Given the description of an element on the screen output the (x, y) to click on. 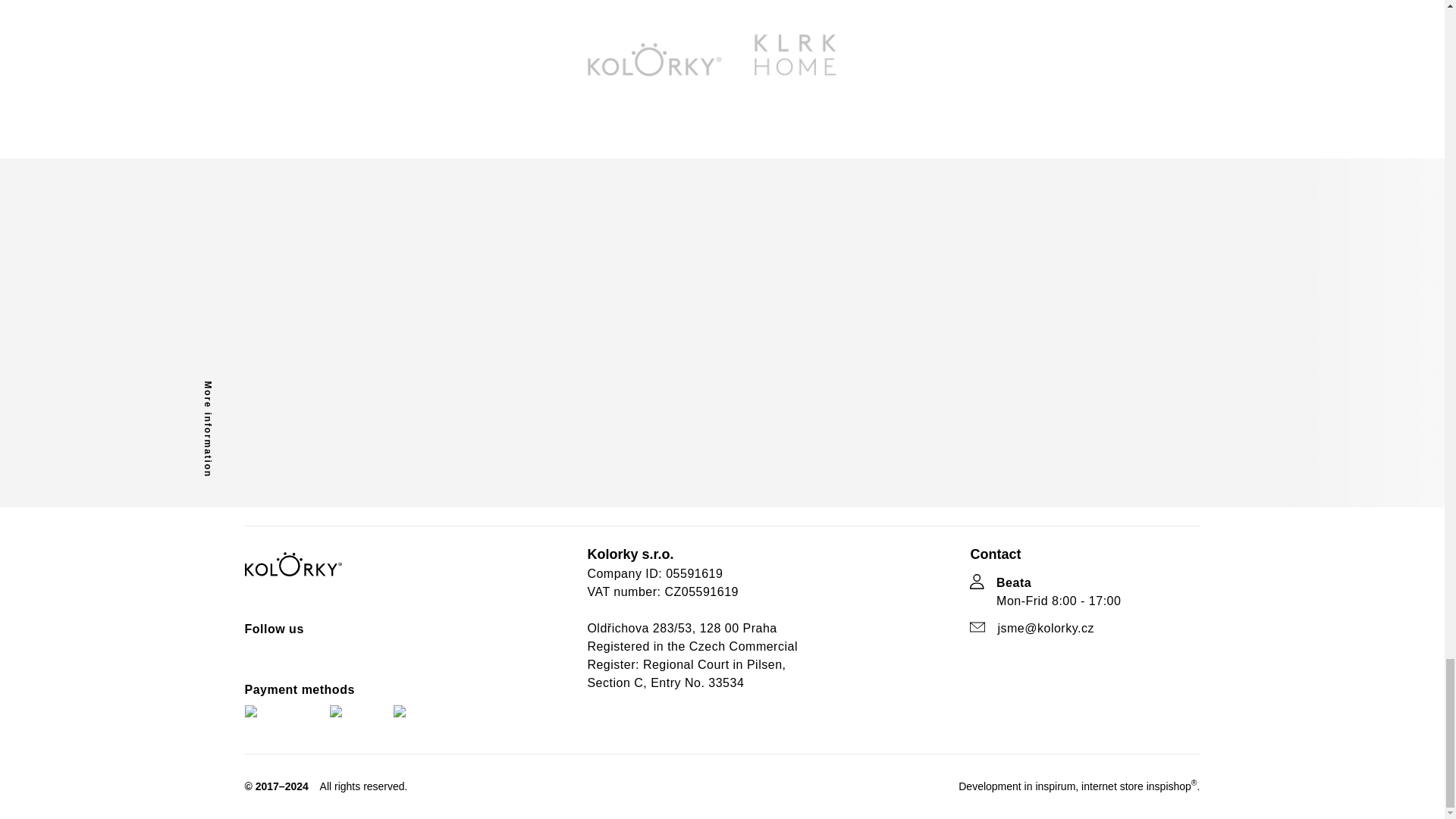
Kolorky (649, 70)
KLRK HOME (794, 70)
